Given the description of an element on the screen output the (x, y) to click on. 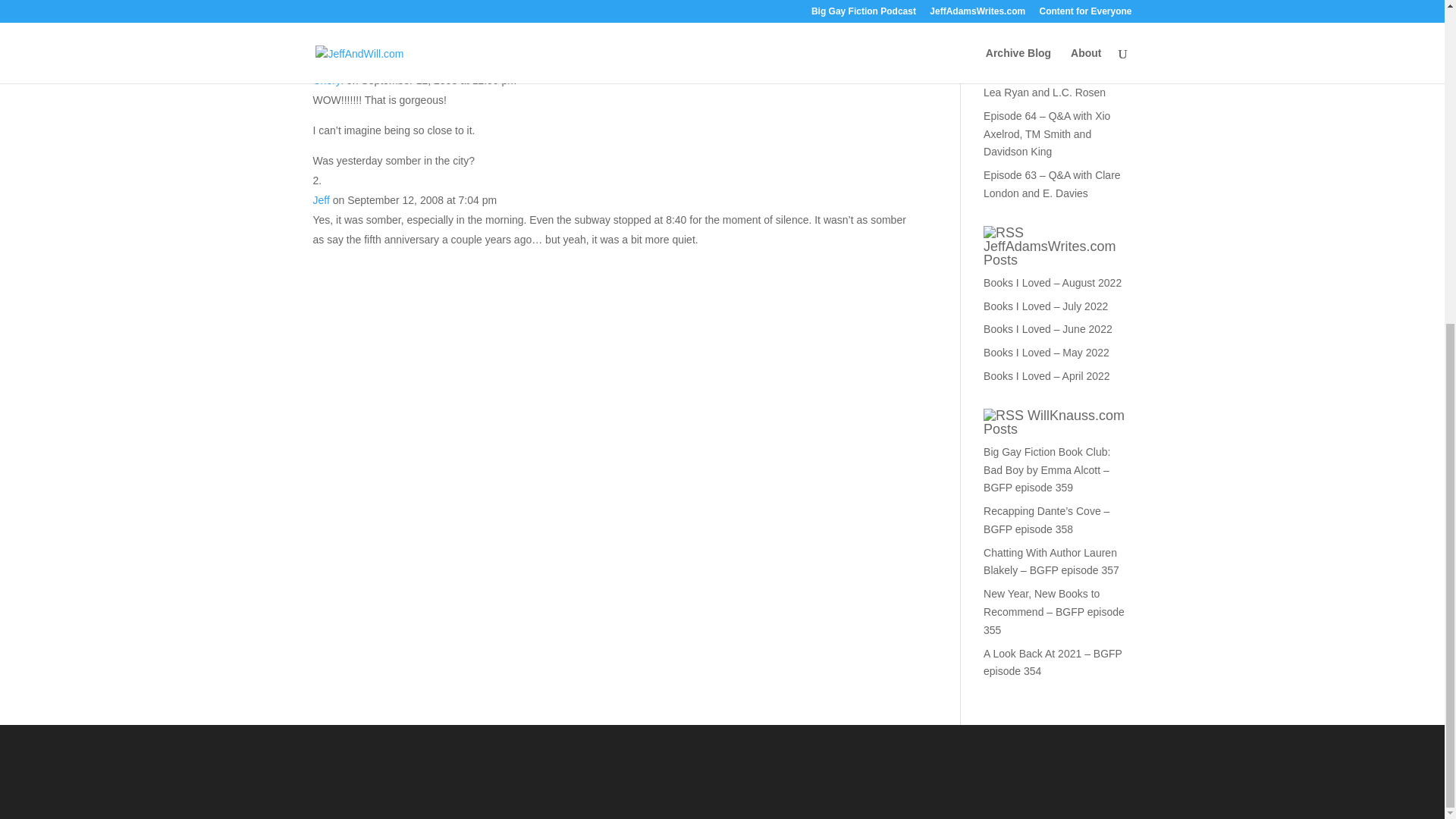
Jeff (321, 200)
Cheryl (327, 80)
JeffAdamsWrites.com Posts (1049, 253)
WillKnauss.com Posts (1054, 421)
